Given the description of an element on the screen output the (x, y) to click on. 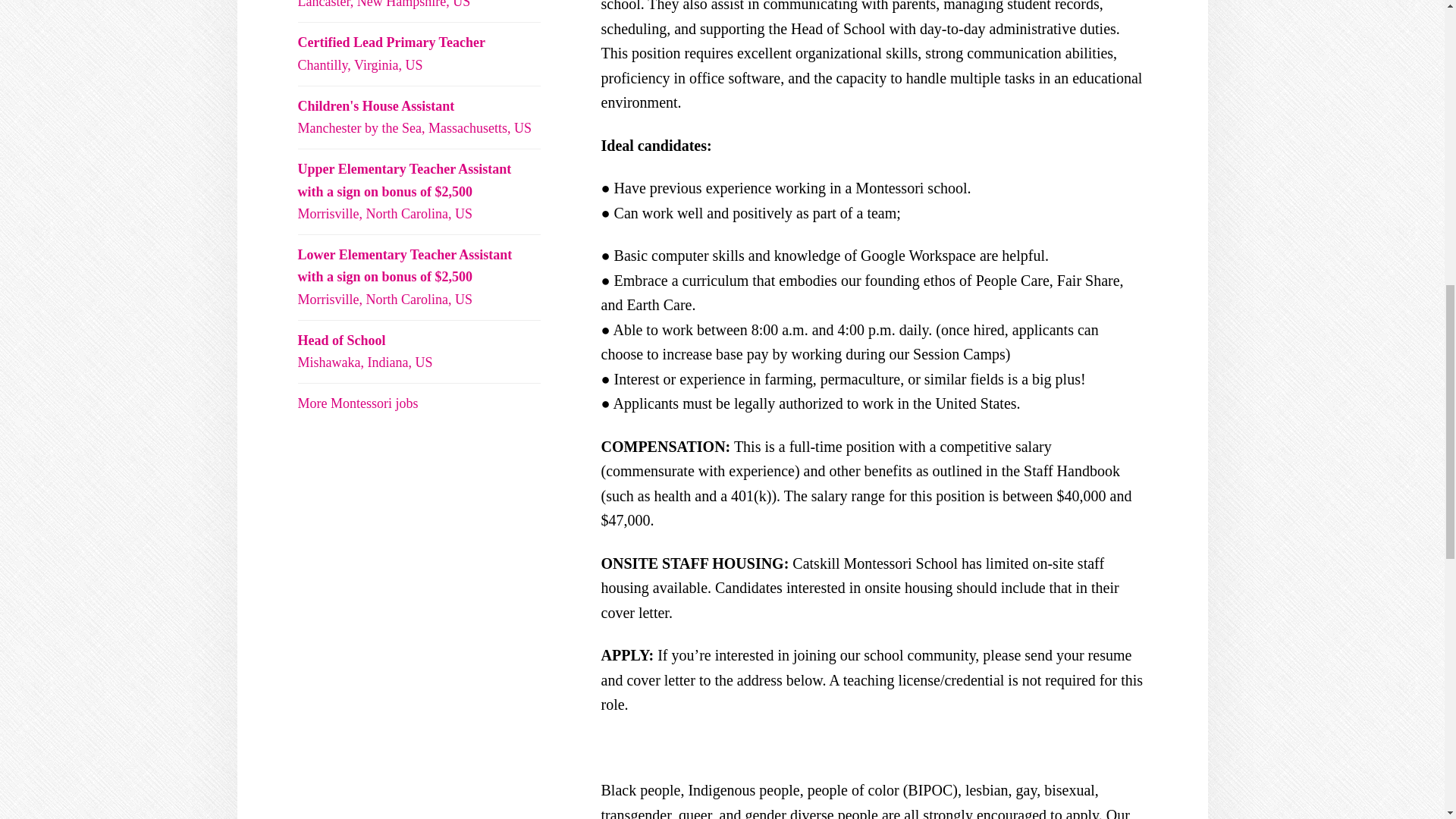
More Montessori jobs (390, 53)
